Given the description of an element on the screen output the (x, y) to click on. 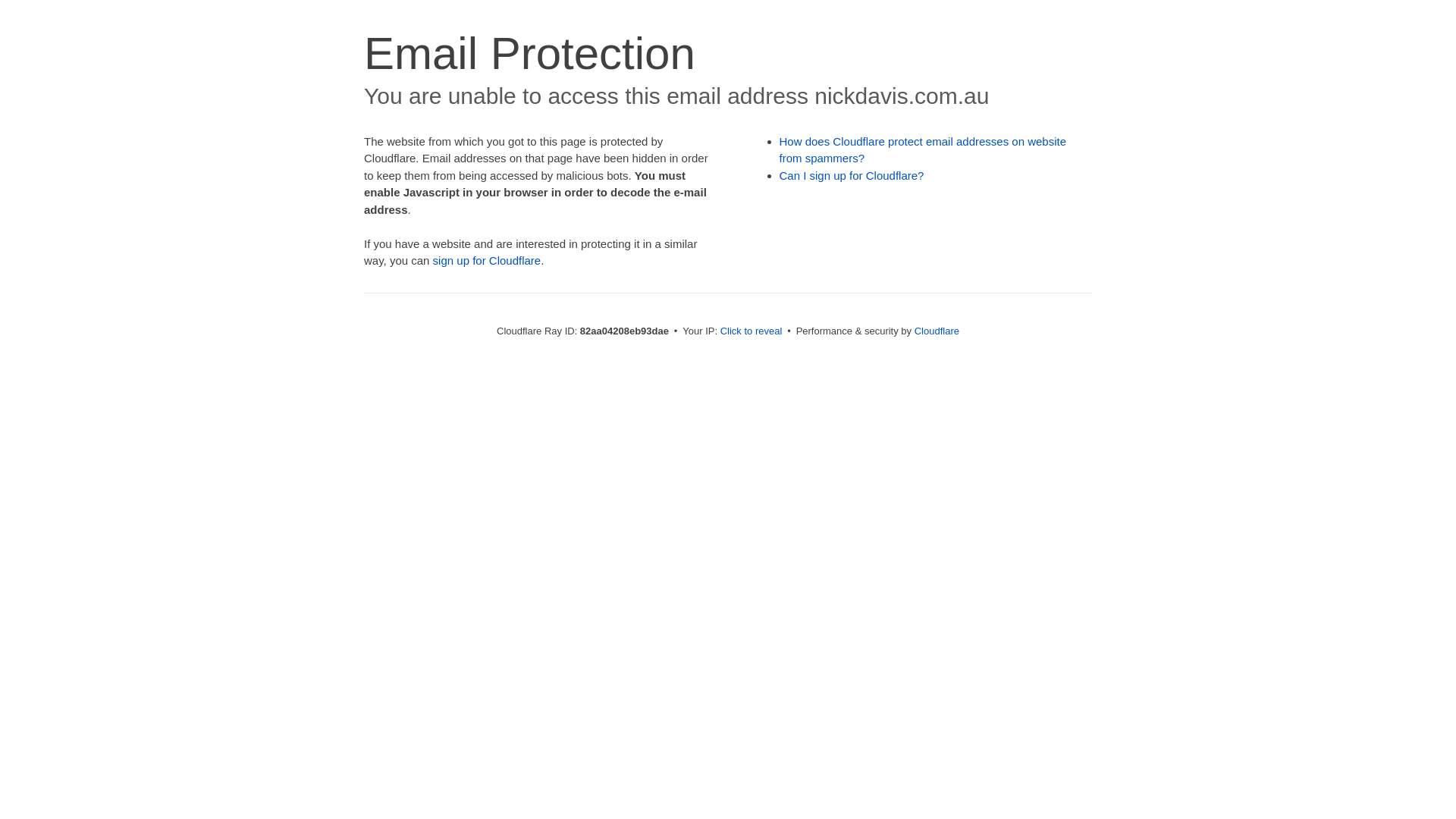
Cloudflare Element type: text (936, 330)
Can I sign up for Cloudflare? Element type: text (851, 175)
sign up for Cloudflare Element type: text (487, 260)
Click to reveal Element type: text (751, 330)
